Given the description of an element on the screen output the (x, y) to click on. 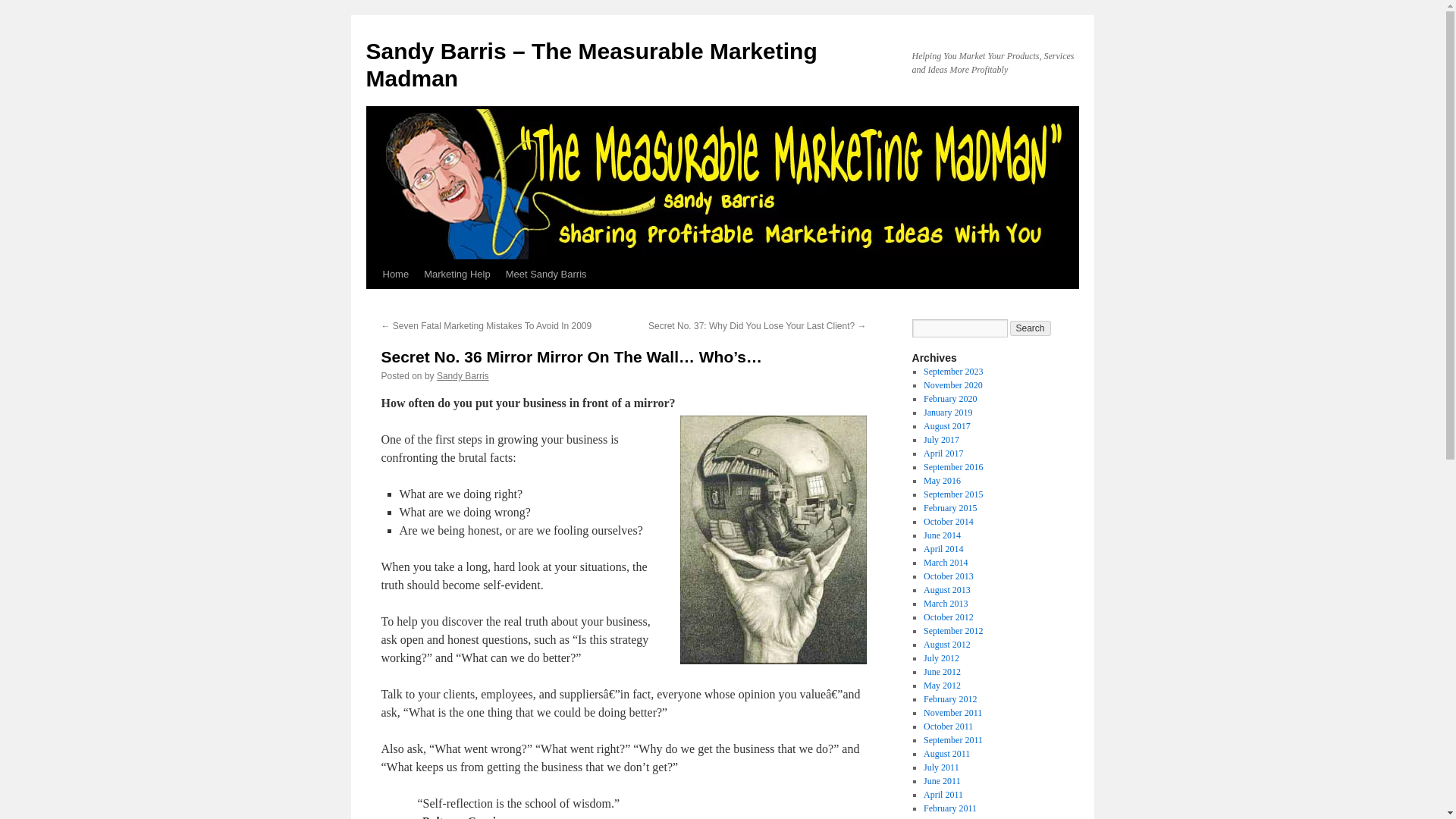
September 2023 (952, 371)
January 2019 (947, 412)
Sandy Barris (462, 376)
View all posts by Sandy Barris (462, 376)
September 2015 (952, 493)
November 2020 (952, 385)
October 2013 (948, 575)
Marketing Help (456, 274)
September 2016 (952, 466)
June 2014 (941, 534)
April 2017 (942, 452)
Home (395, 274)
August 2017 (947, 425)
March 2014 (945, 562)
Search (1030, 328)
